Given the description of an element on the screen output the (x, y) to click on. 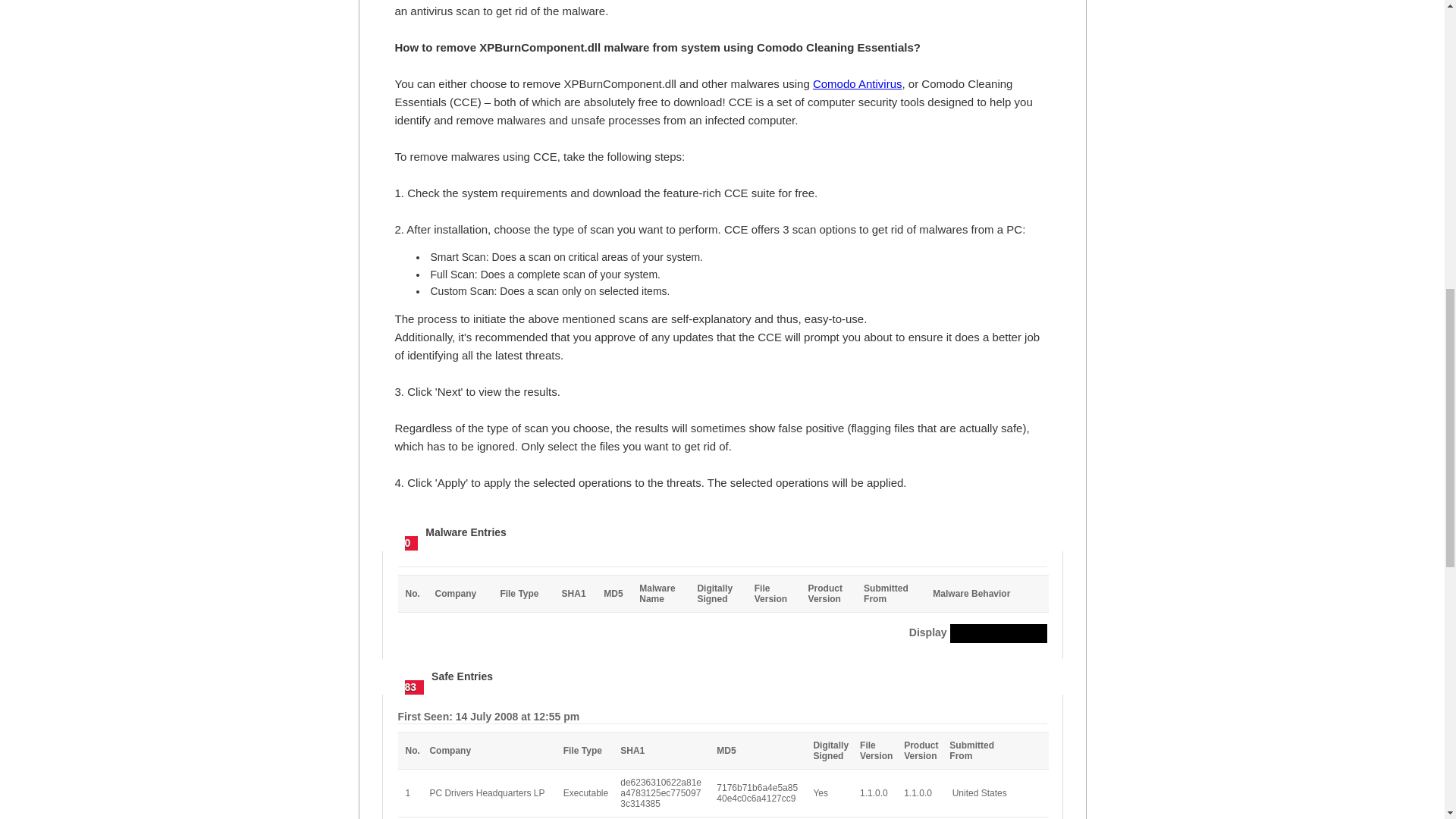
Comodo Antivirus (857, 83)
Safe Entries (1037, 531)
Prev (418, 632)
4 items per page (997, 632)
Next (471, 632)
